Given the description of an element on the screen output the (x, y) to click on. 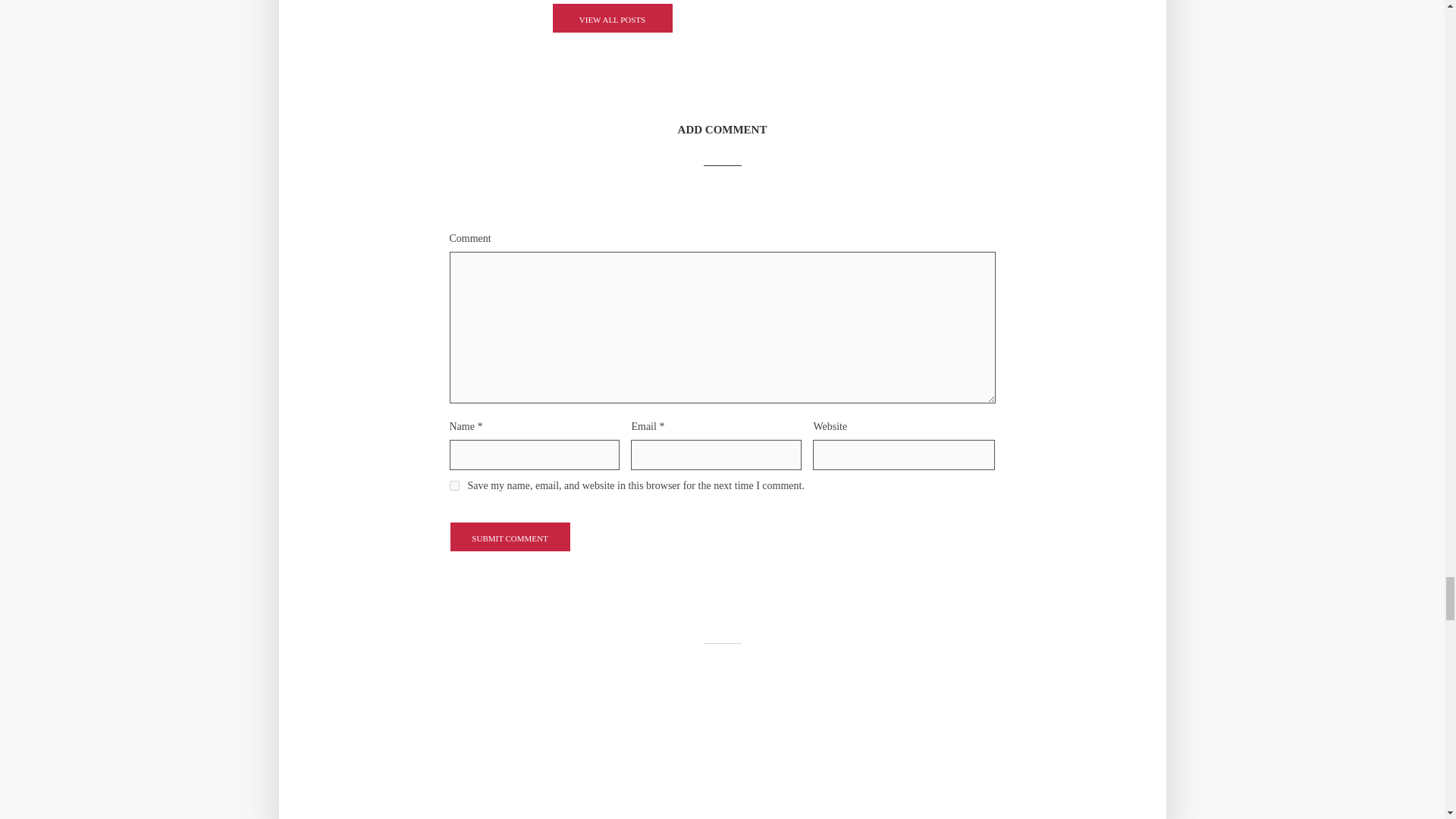
yes (453, 485)
VIEW ALL POSTS (611, 18)
Submit Comment (509, 536)
Submit Comment (509, 536)
